Given the description of an element on the screen output the (x, y) to click on. 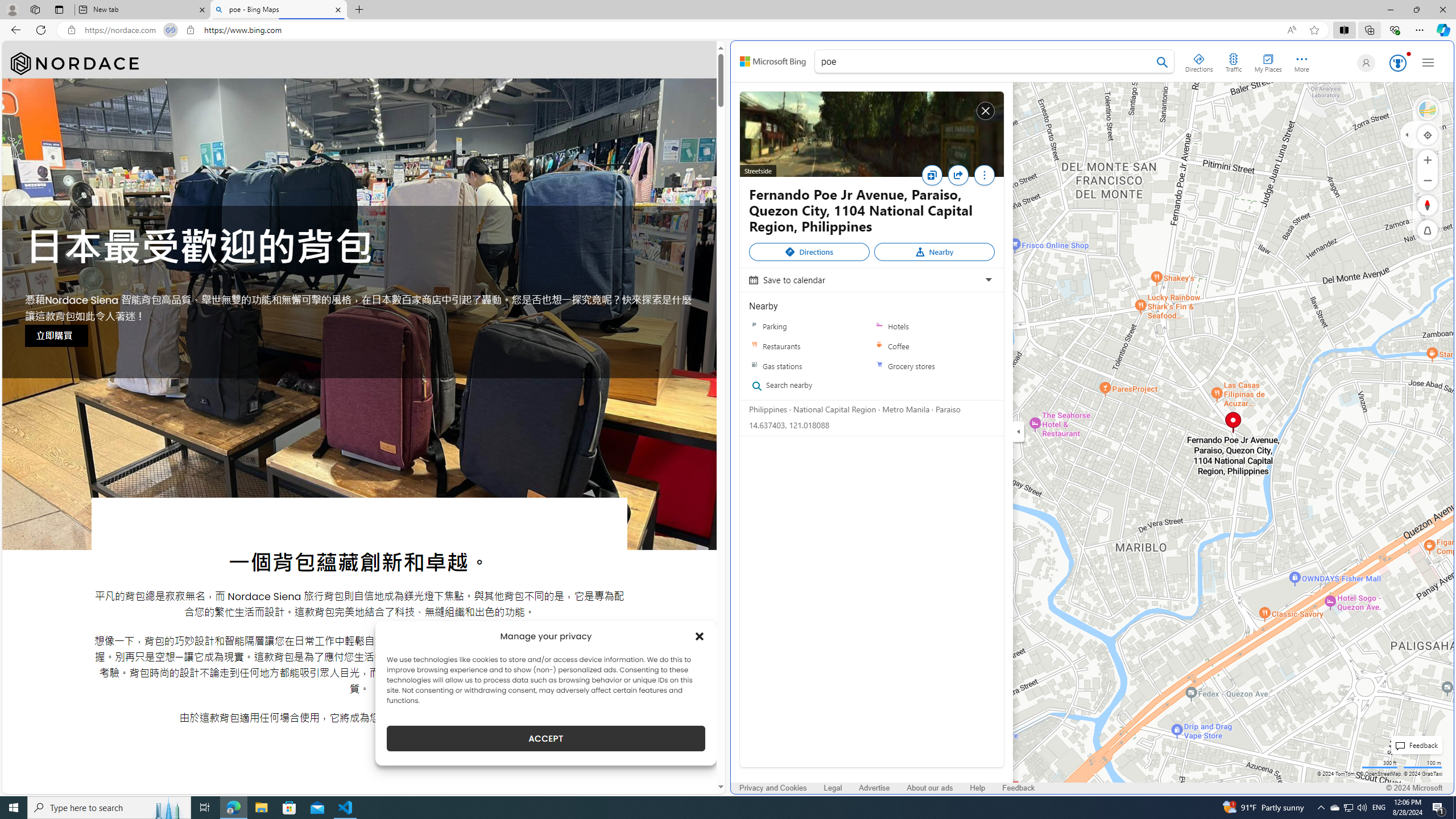
Parking (754, 326)
My Places (1267, 60)
Restaurants (754, 346)
Rotate Right (1416, 205)
Satellite (1427, 109)
Traffic (1232, 60)
Hotels (933, 326)
Advertise (874, 787)
Save to calendar (869, 279)
Search Bing Maps (1162, 61)
